Given the description of an element on the screen output the (x, y) to click on. 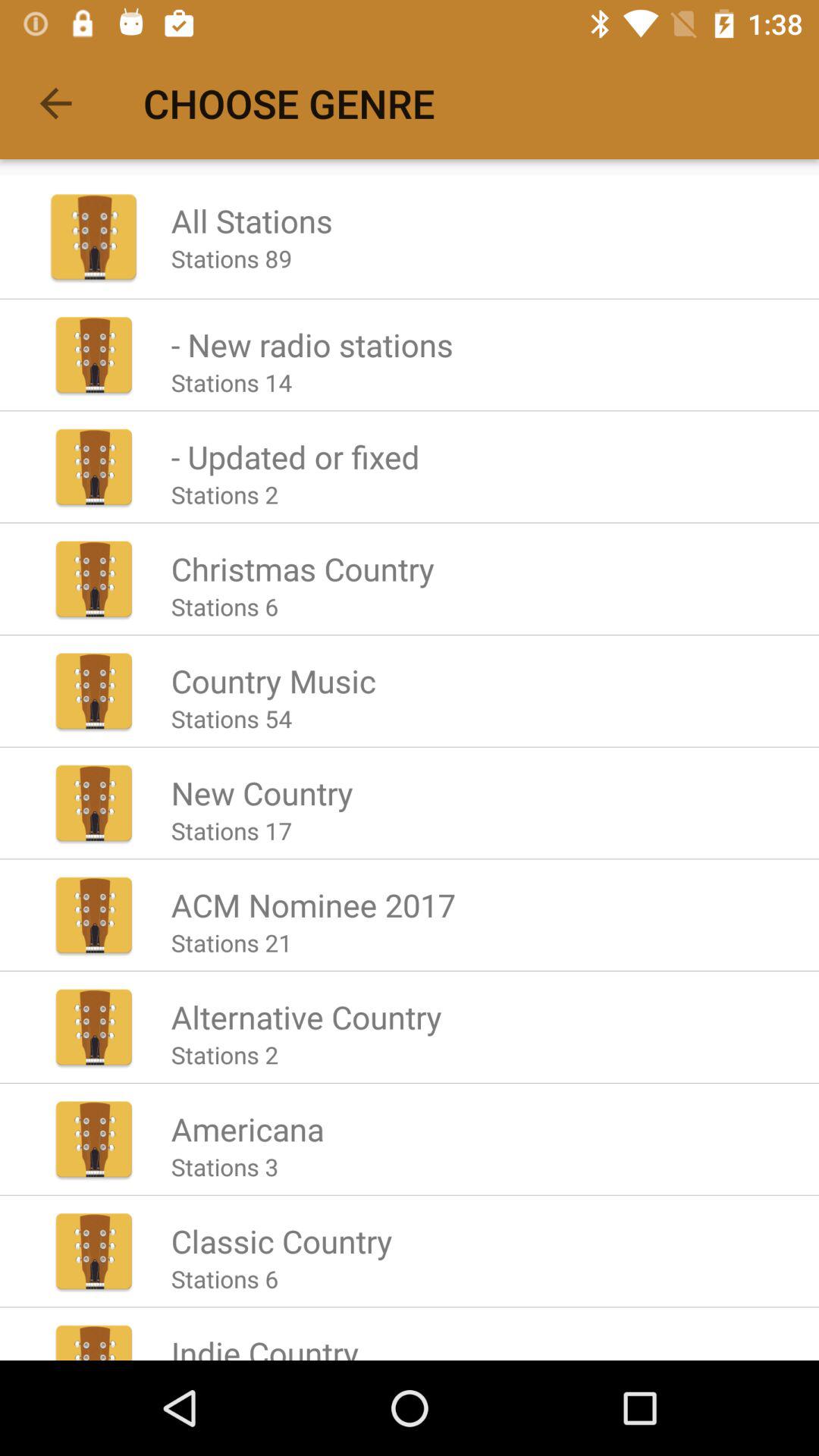
open the app above stations 2 icon (295, 456)
